Given the description of an element on the screen output the (x, y) to click on. 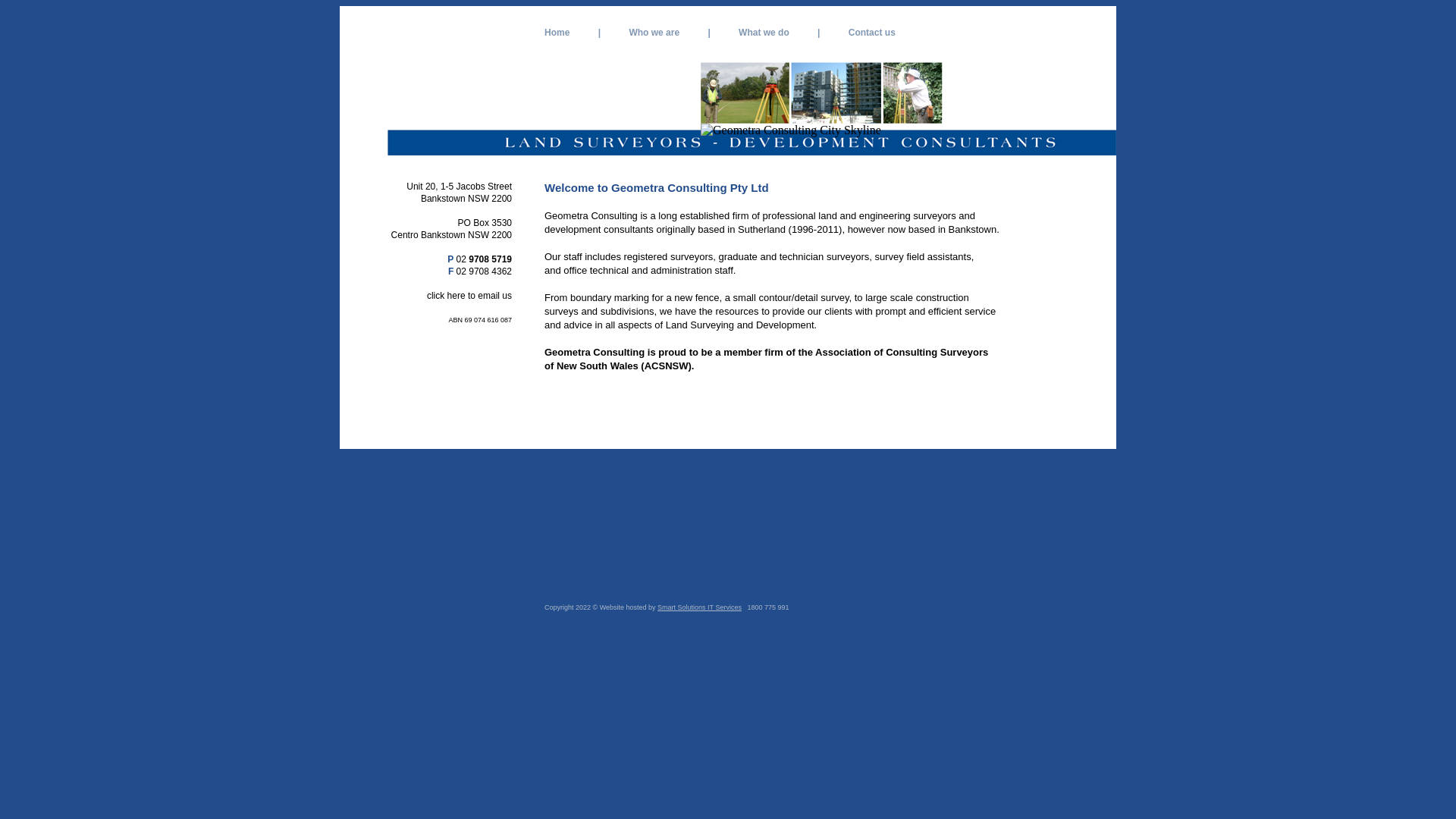
Contact us Element type: text (871, 32)
Smart Solutions IT Services Element type: text (699, 607)
Home Element type: text (556, 32)
Who we are Element type: text (653, 32)
What we do Element type: text (763, 32)
click here to email us Element type: text (468, 295)
